Given the description of an element on the screen output the (x, y) to click on. 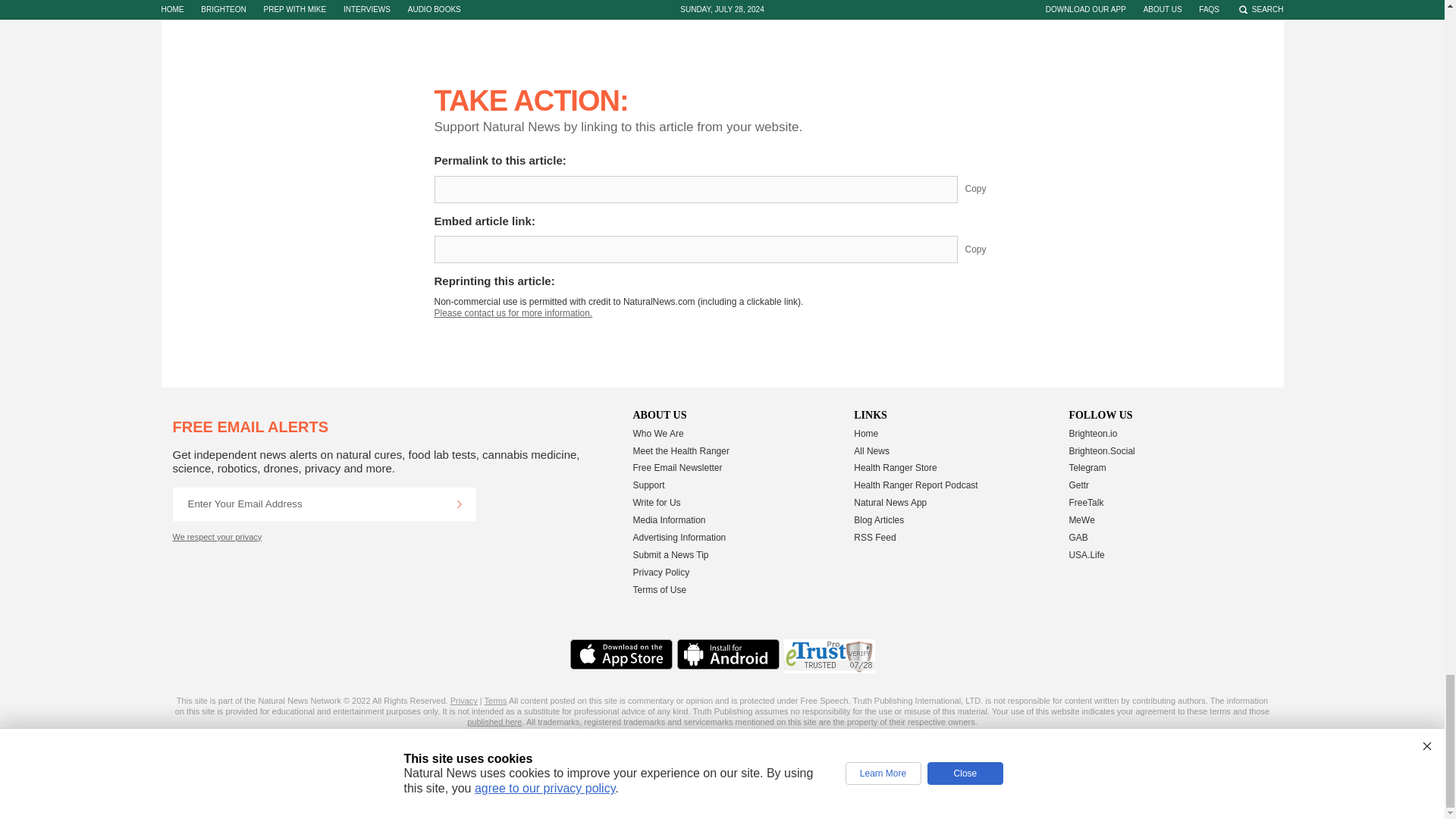
Continue (459, 503)
Copy Embed Link (986, 248)
Copy Permalink (986, 189)
eTrust Pro Certified (829, 656)
